Given the description of an element on the screen output the (x, y) to click on. 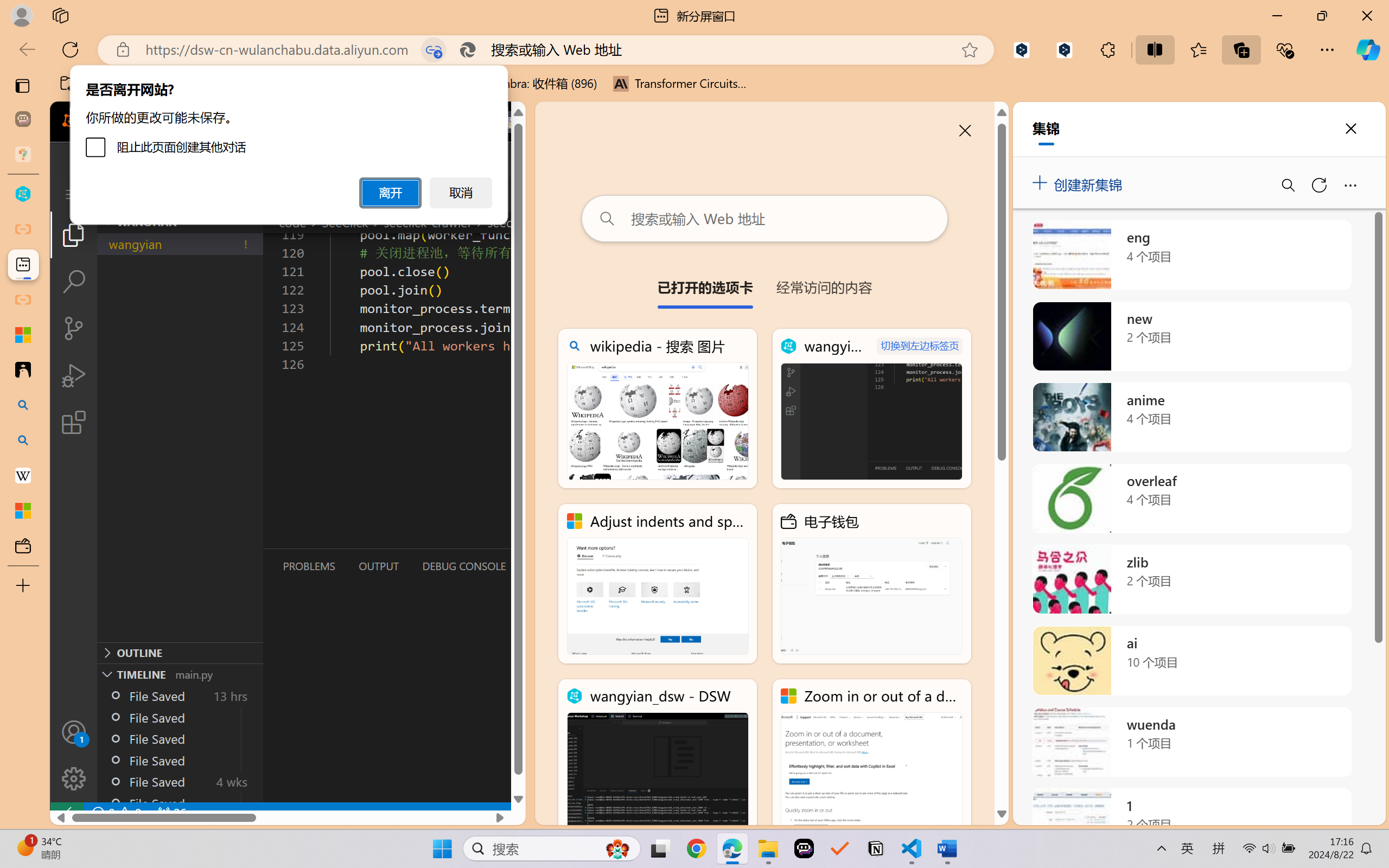
Timeline Section (179, 673)
Accounts - Sign in requested (73, 732)
No Problems (115, 812)
Debug Console (Ctrl+Shift+Y) (463, 565)
remote (66, 812)
